Given the description of an element on the screen output the (x, y) to click on. 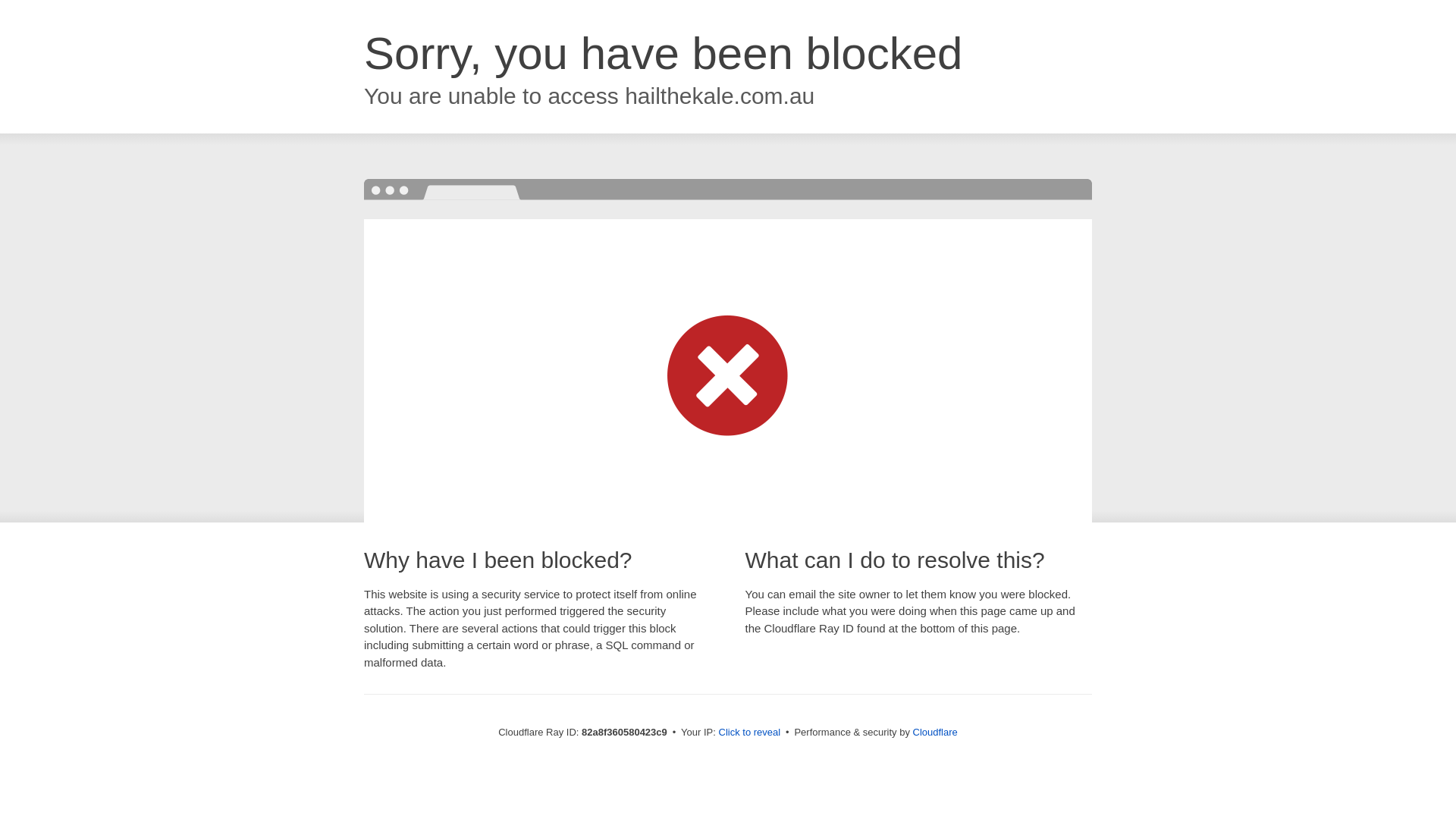
Cloudflare Element type: text (935, 731)
Click to reveal Element type: text (749, 732)
